Given the description of an element on the screen output the (x, y) to click on. 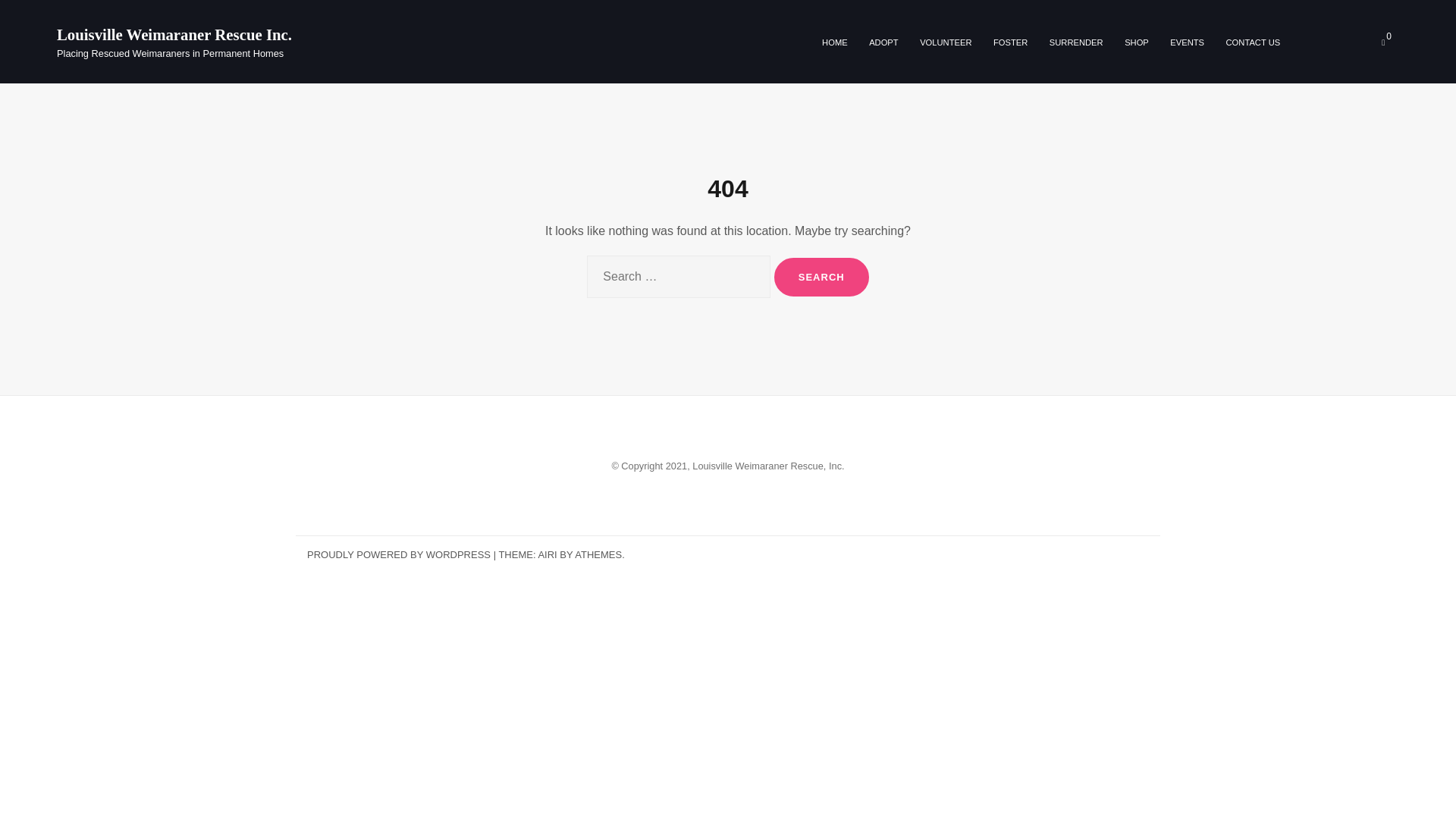
PROUDLY POWERED BY WORDPRESS (398, 554)
HOME (834, 42)
Search (821, 277)
Search (821, 277)
CONTACT US (1253, 42)
SHOP (1136, 42)
ADOPT (883, 42)
AIRI (546, 554)
EVENTS (1187, 42)
SURRENDER (1076, 42)
